Given the description of an element on the screen output the (x, y) to click on. 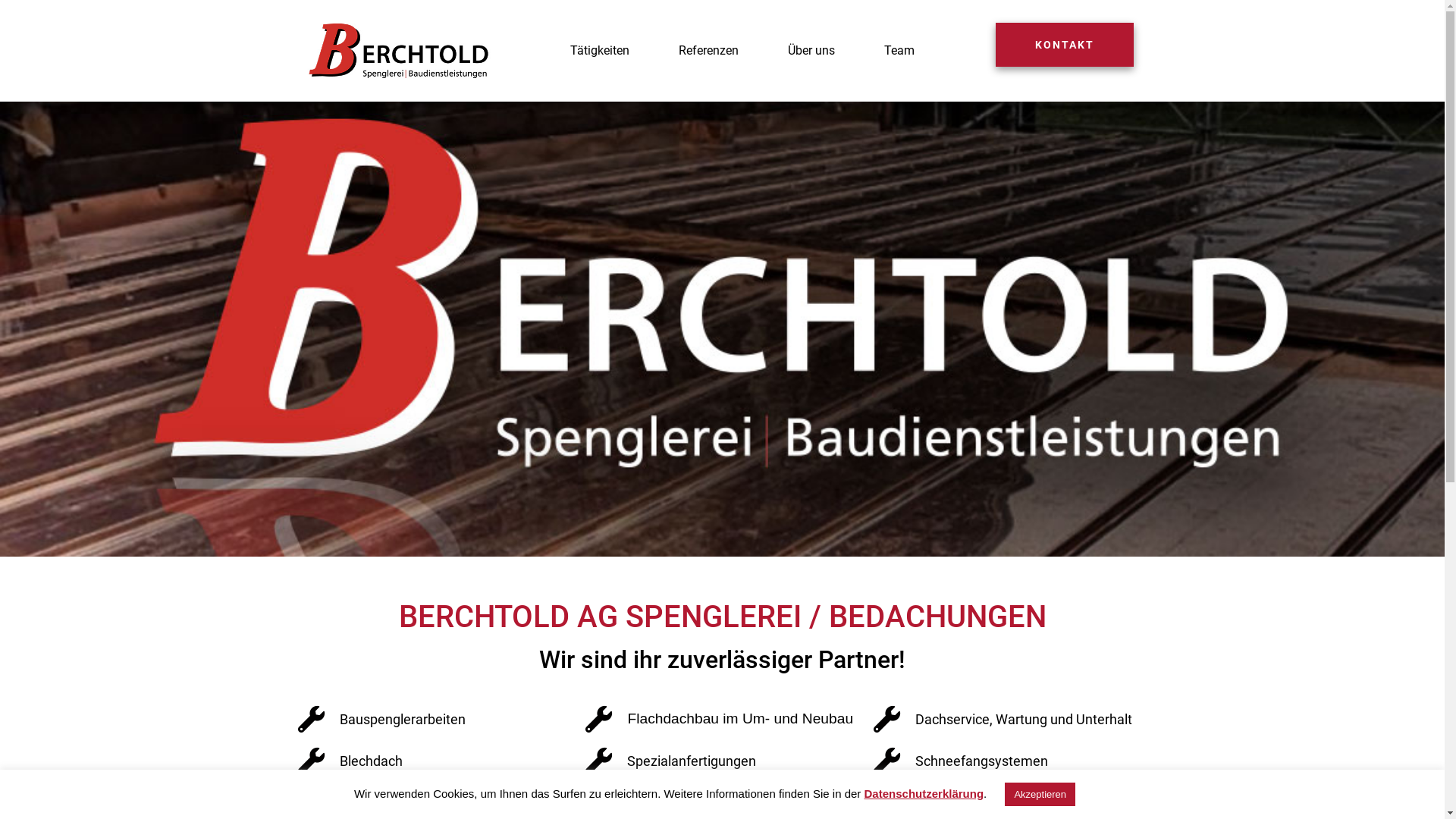
Referenzen Element type: text (708, 50)
KONTAKT Element type: text (1064, 44)
Team Element type: text (899, 50)
Akzeptieren Element type: text (1039, 794)
